Given the description of an element on the screen output the (x, y) to click on. 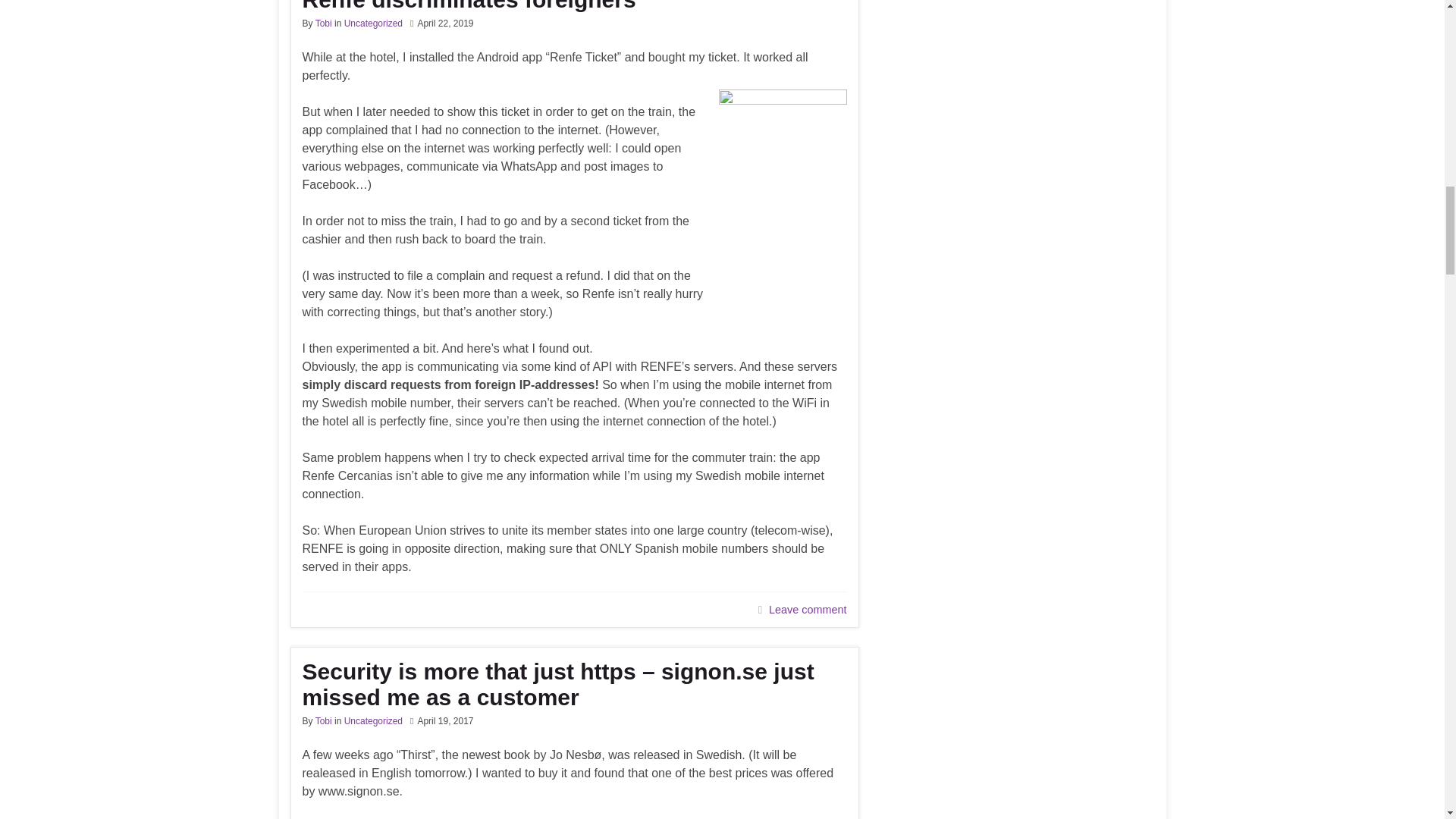
Tobi (323, 720)
Uncategorized (373, 720)
Renfe discriminates foreigners (573, 6)
Tobi (323, 23)
Permalink to Renfe discriminates foreigners (573, 6)
Uncategorized (373, 23)
Leave comment (806, 609)
